Given the description of an element on the screen output the (x, y) to click on. 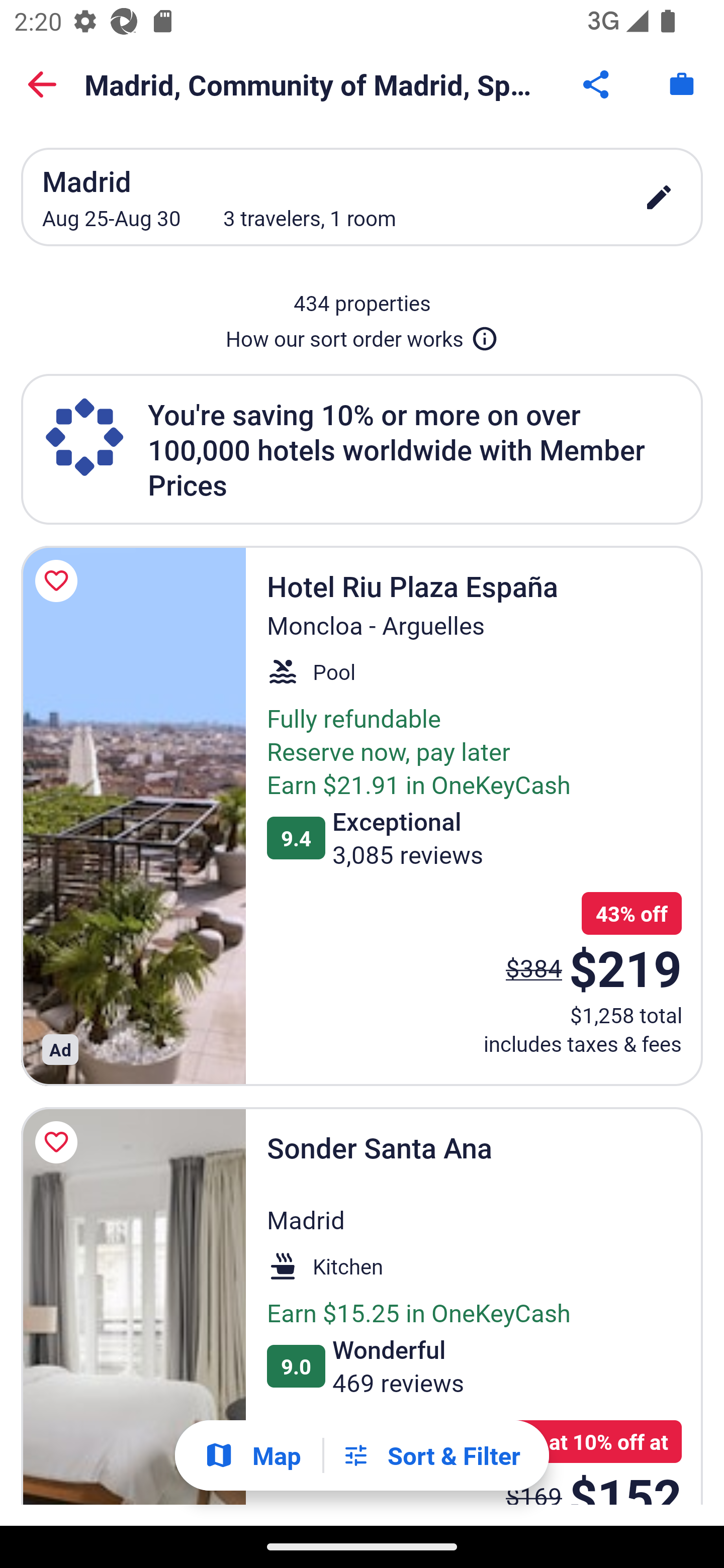
Back (42, 84)
Share Button (597, 84)
Trips. Button (681, 84)
Madrid Aug 25-Aug 30 3 travelers, 1 room edit (361, 196)
How our sort order works (361, 334)
Save Hotel Riu Plaza España to a trip (59, 580)
Hotel Riu Plaza España (133, 815)
$384 The price was $384 (533, 967)
Save Sonder Santa Ana to a trip (59, 1141)
Sonder Santa Ana (133, 1306)
Filters Sort & Filter Filters Button (430, 1455)
Show map Map Show map Button (252, 1455)
